Given the description of an element on the screen output the (x, y) to click on. 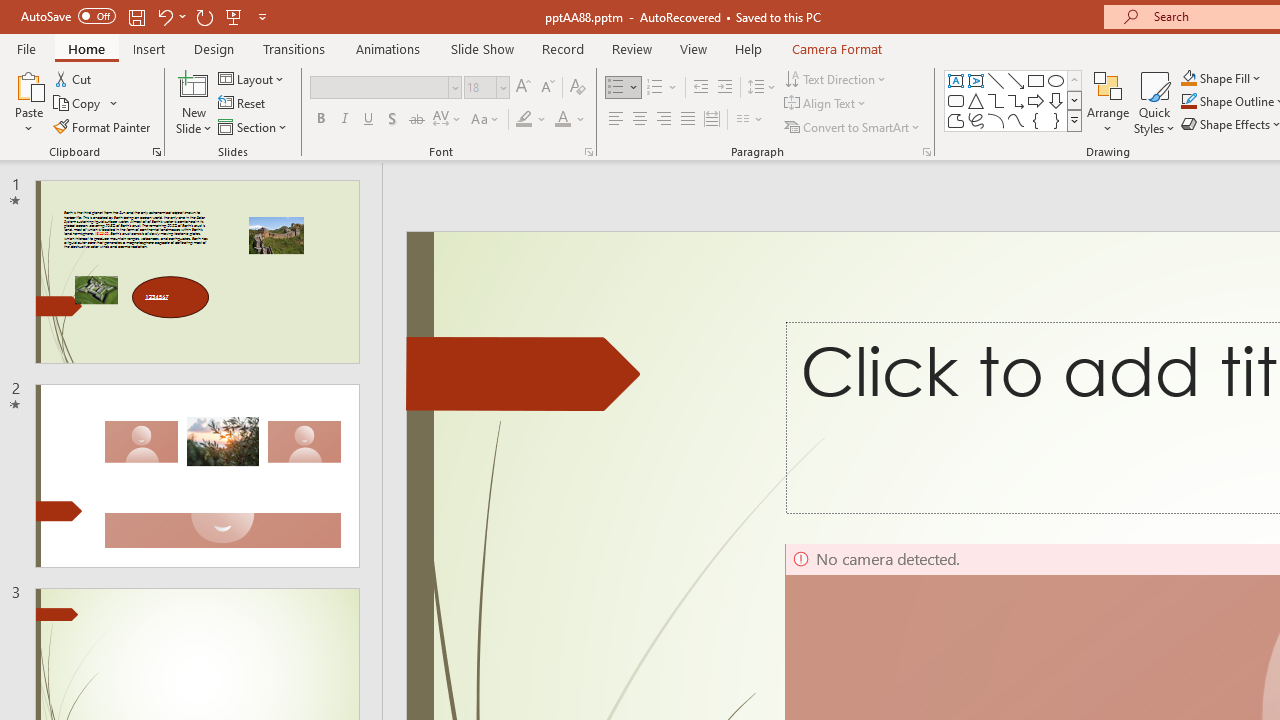
Font Color (569, 119)
Increase Font Size (522, 87)
Copy (78, 103)
Columns (750, 119)
Line Spacing (762, 87)
Arc (995, 120)
Slide (196, 476)
Isosceles Triangle (975, 100)
Align Right (663, 119)
Font Size (480, 87)
Line (995, 80)
Camera Format (836, 48)
Curve (1016, 120)
Transitions (294, 48)
Underline (369, 119)
